Given the description of an element on the screen output the (x, y) to click on. 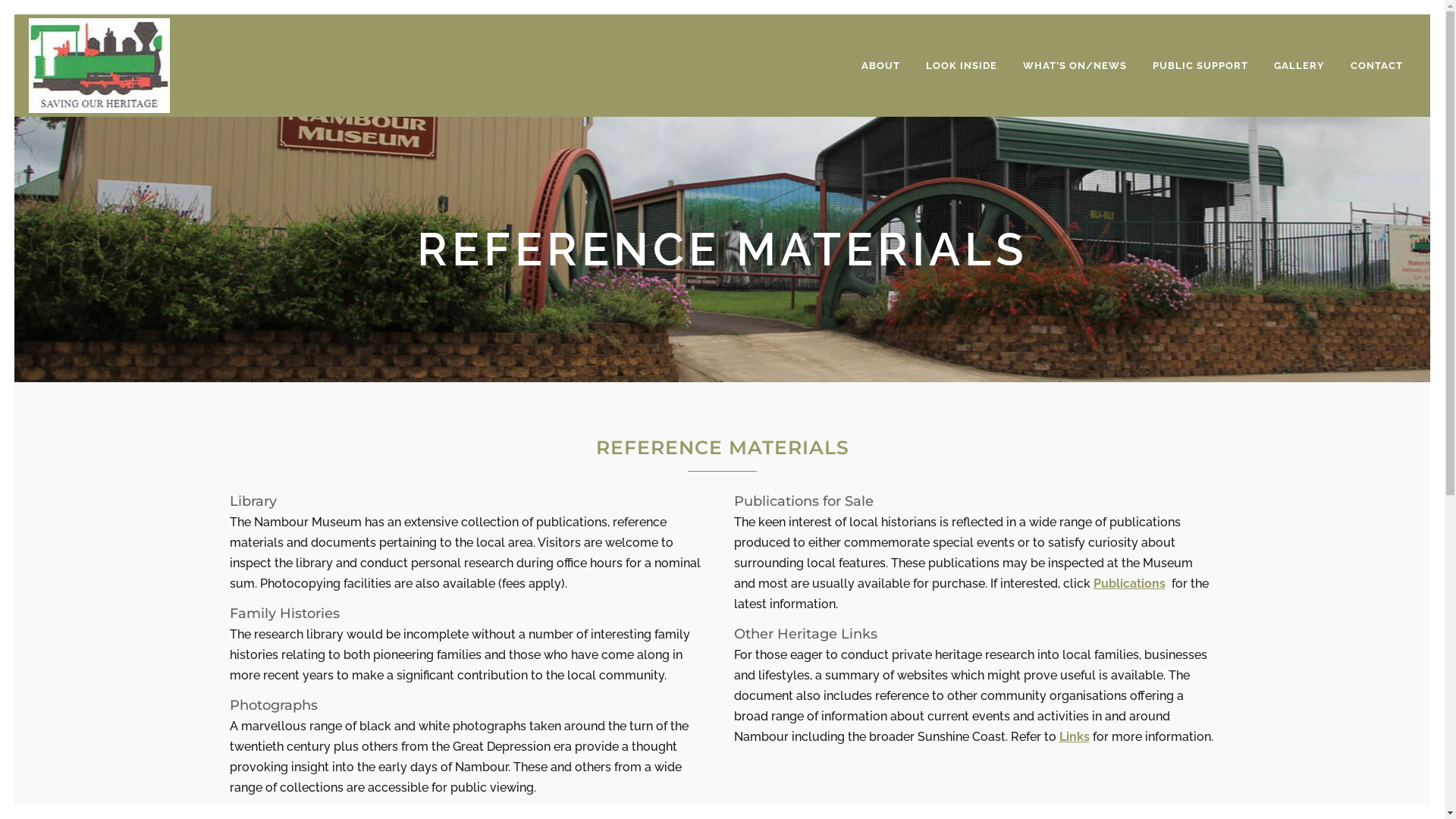
Publications   Element type: text (1132, 583)
LOOK INSIDE Element type: text (961, 65)
PUBLIC SUPPORT Element type: text (1200, 65)
Links  Element type: text (1075, 736)
GALLERY Element type: text (1299, 65)
ABOUT Element type: text (880, 65)
CONTACT Element type: text (1376, 65)
